Given the description of an element on the screen output the (x, y) to click on. 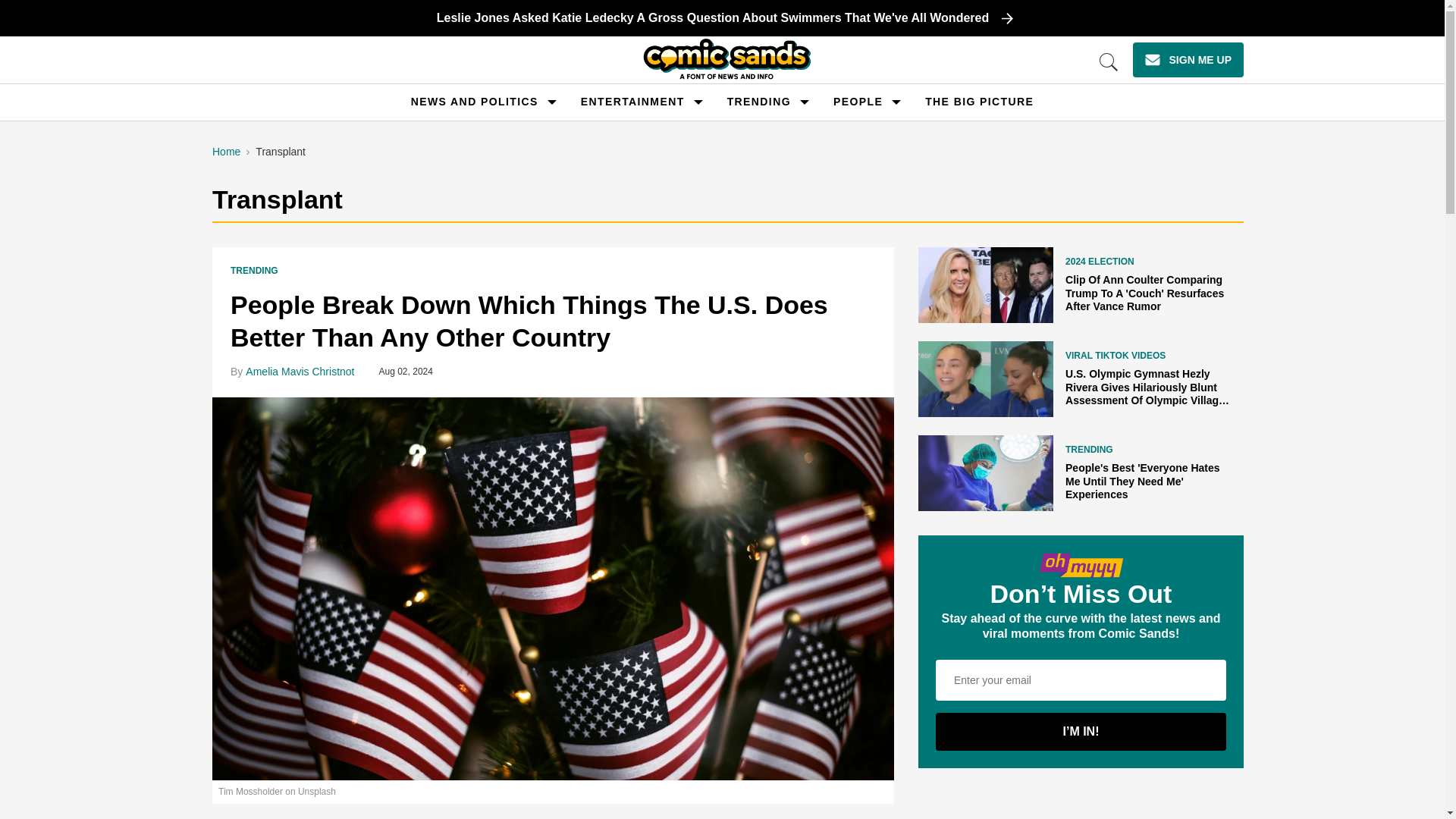
NEWS AND POLITICS (474, 101)
SIGN ME UP (1187, 59)
Open Search (1108, 61)
Open Search (1108, 61)
